Given the description of an element on the screen output the (x, y) to click on. 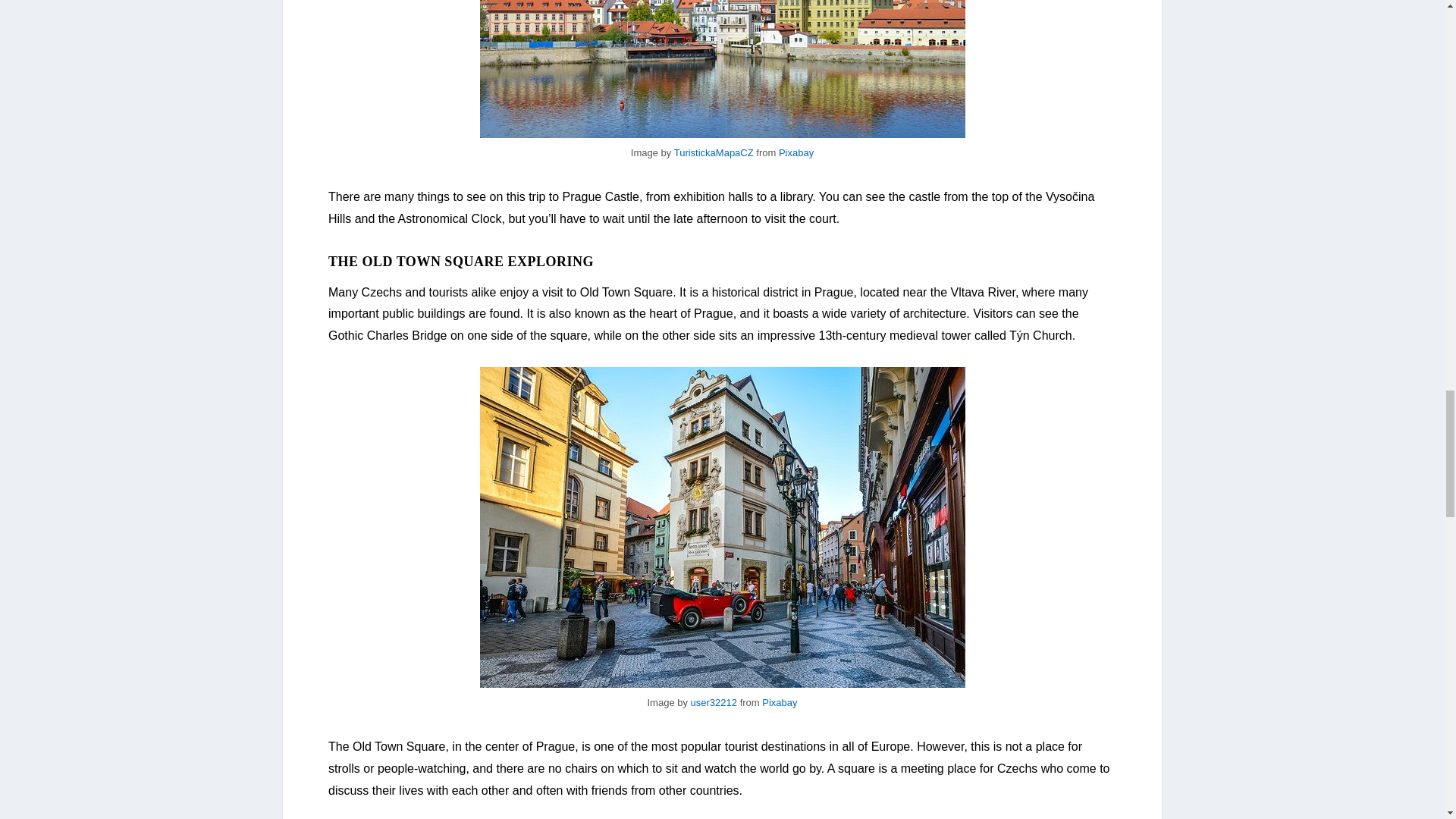
TuristickaMapaCZ (714, 152)
Pixabay (778, 702)
user32212 (713, 702)
Pixabay (795, 152)
